Given the description of an element on the screen output the (x, y) to click on. 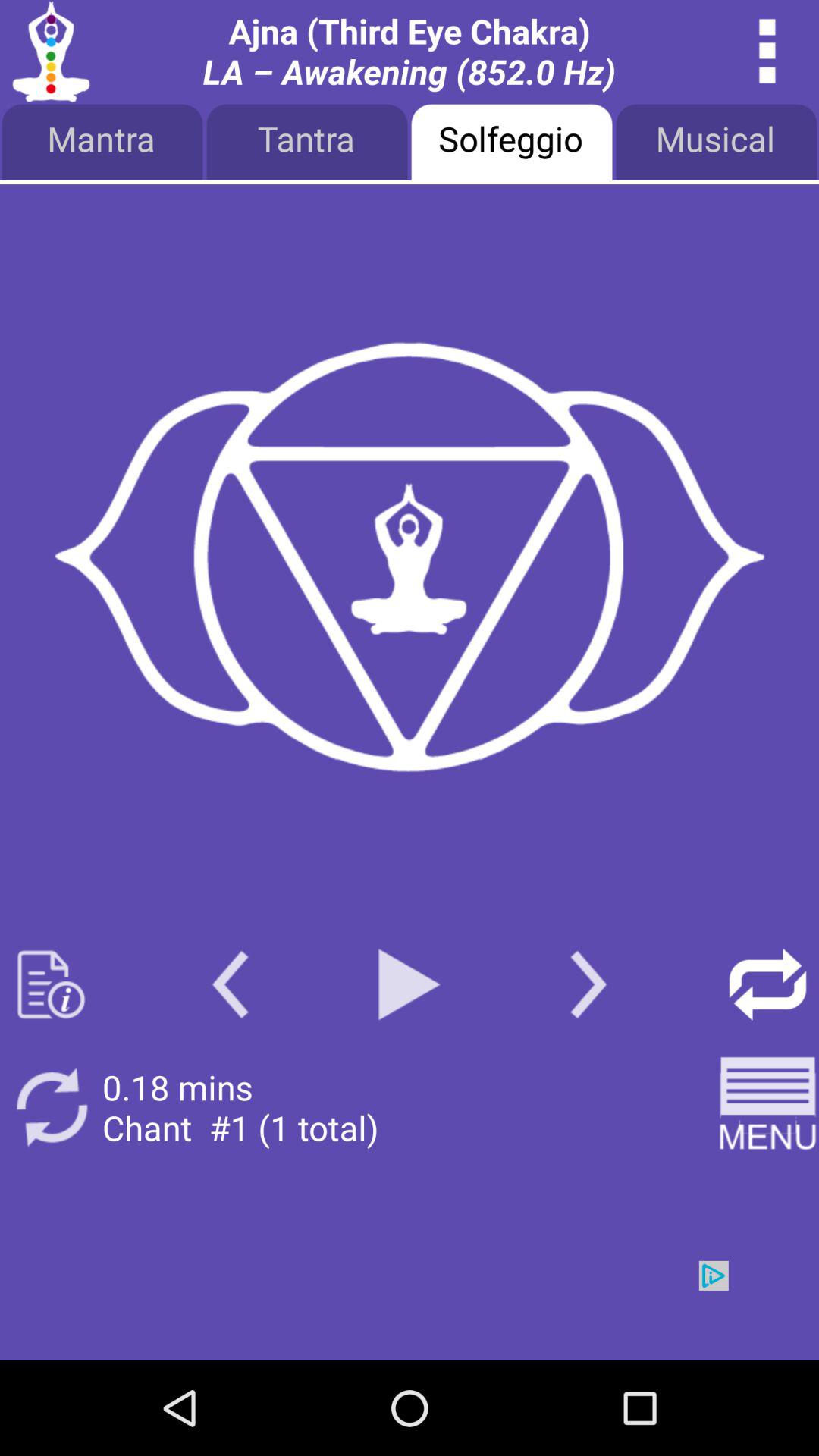
rotate button (51, 1107)
